Given the description of an element on the screen output the (x, y) to click on. 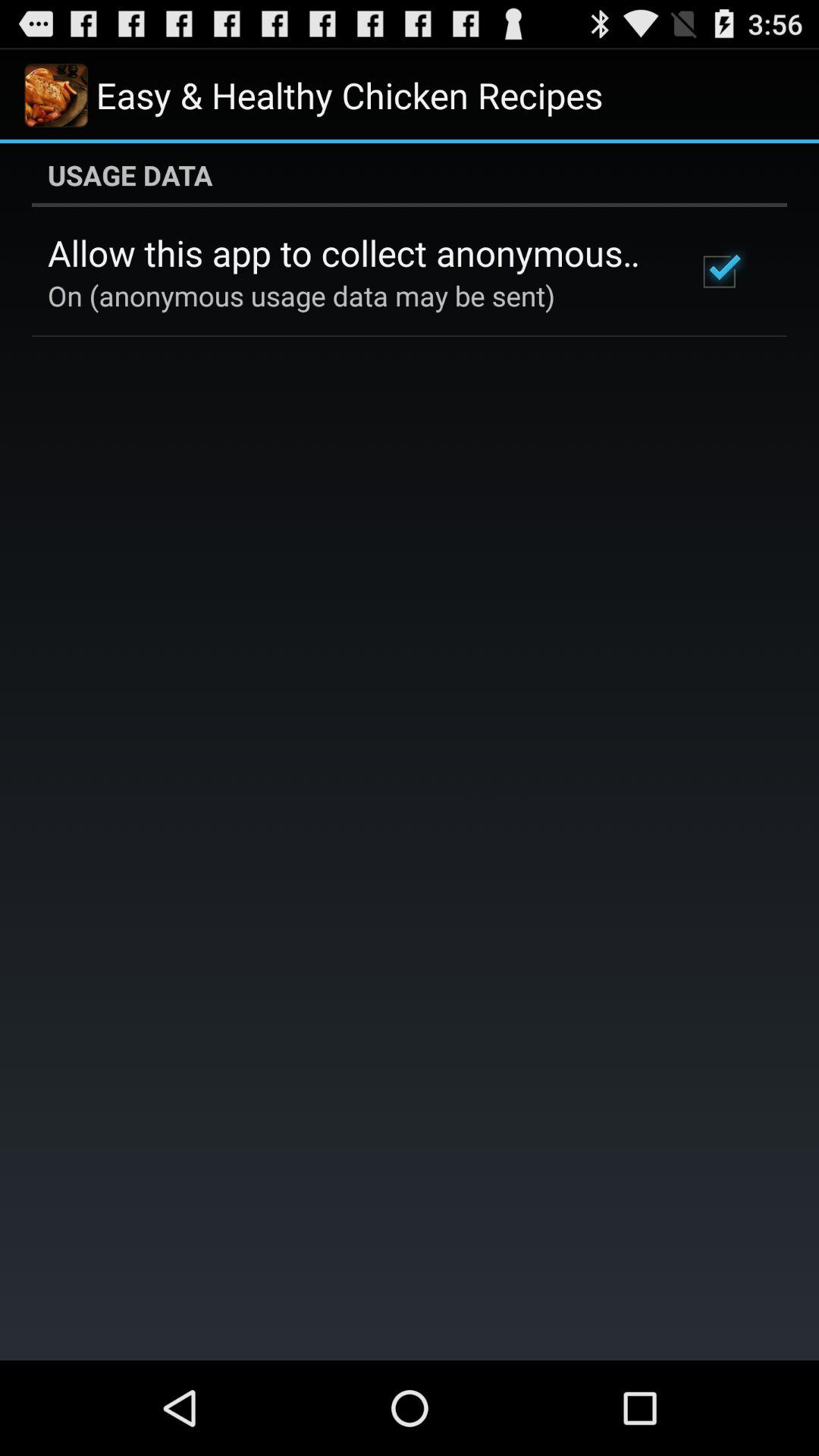
swipe to the allow this app item (351, 252)
